Given the description of an element on the screen output the (x, y) to click on. 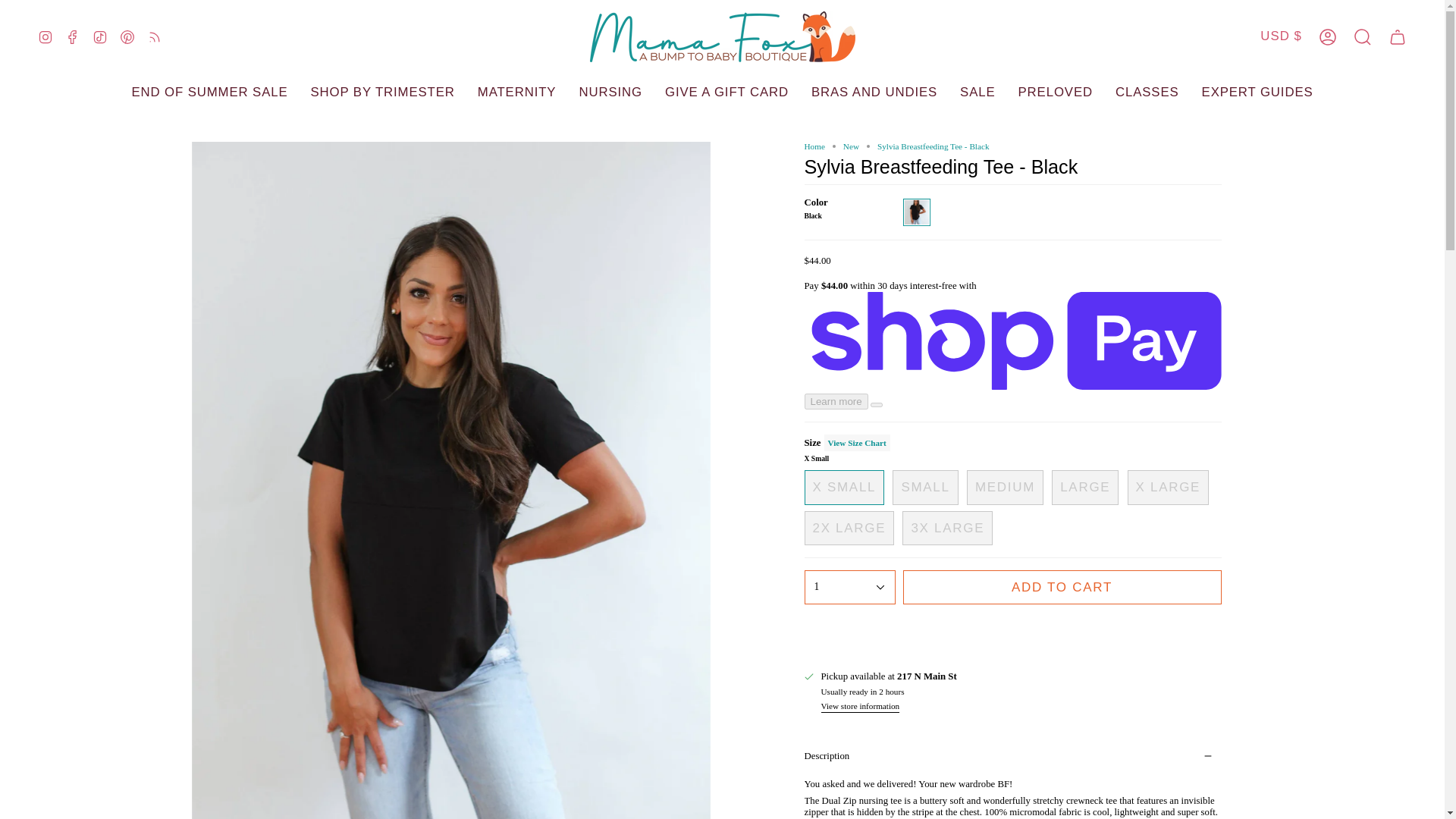
MATERNITY (516, 92)
SHOP BY TRIMESTER (382, 92)
END OF SUMMER SALE (208, 92)
